Given the description of an element on the screen output the (x, y) to click on. 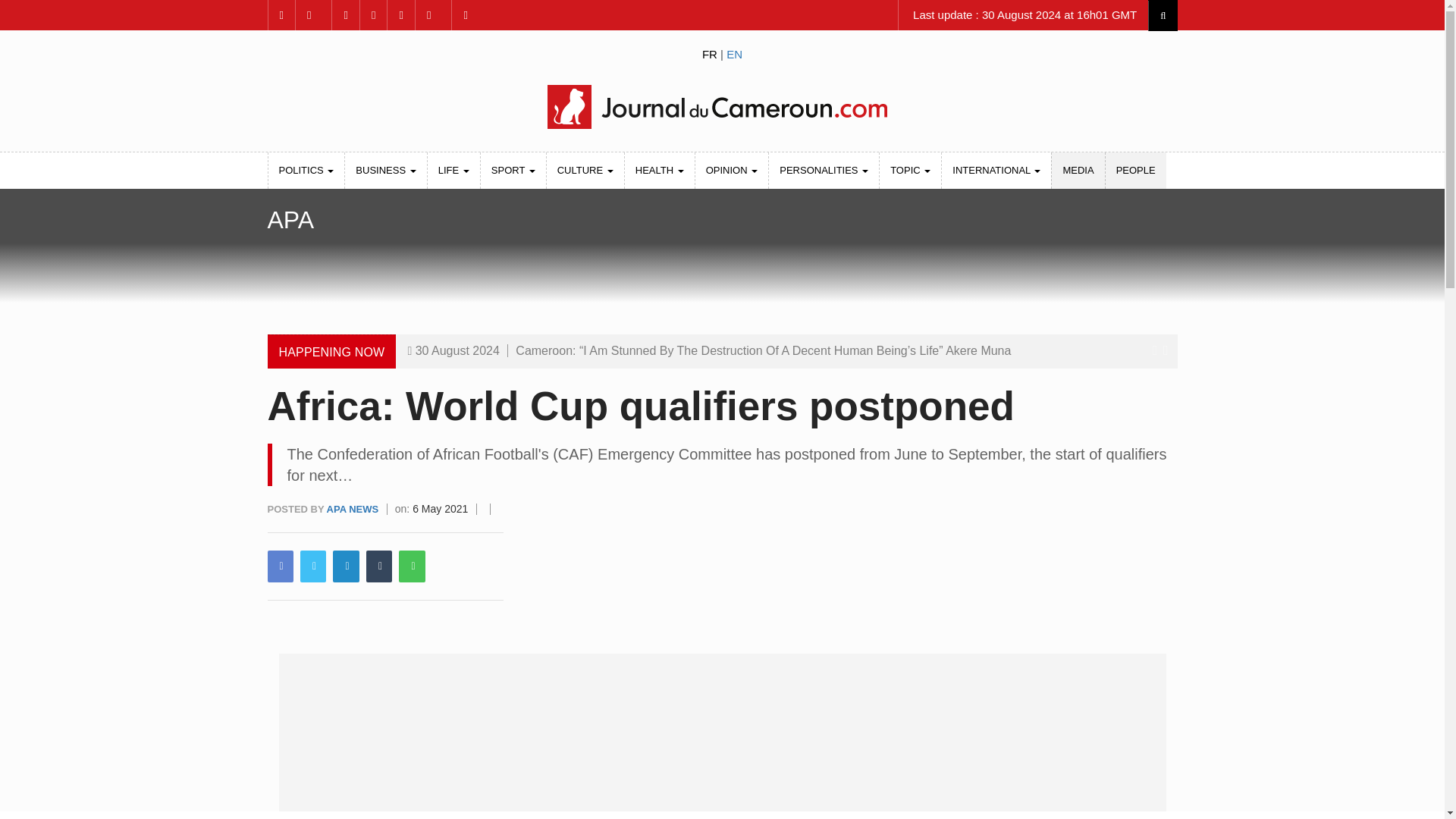
JDC (721, 106)
POLITICS (306, 170)
BUSINESS (385, 170)
FR (709, 53)
Last update : 30 August 2024 at 16h01 GMT (1023, 15)
EN (734, 53)
